Given the description of an element on the screen output the (x, y) to click on. 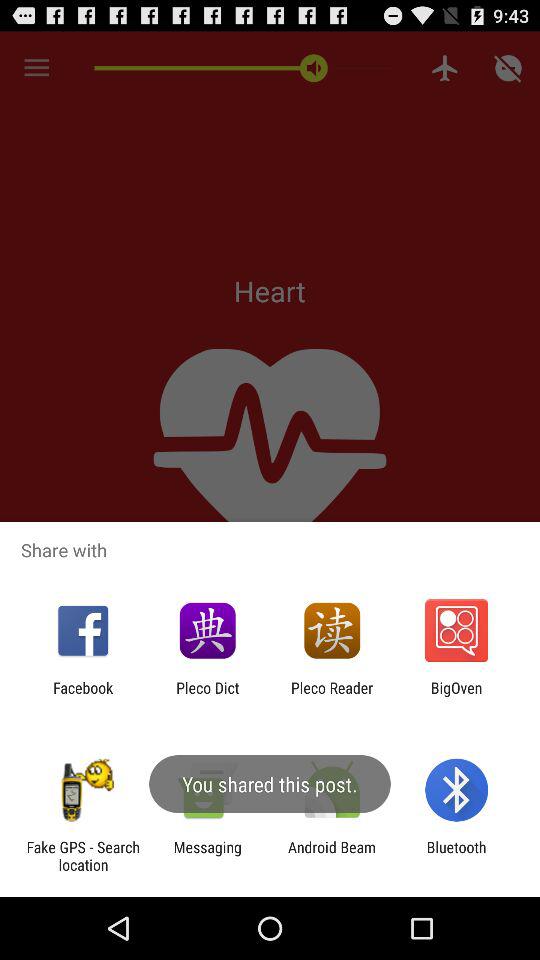
select the app to the right of the android beam app (456, 856)
